Given the description of an element on the screen output the (x, y) to click on. 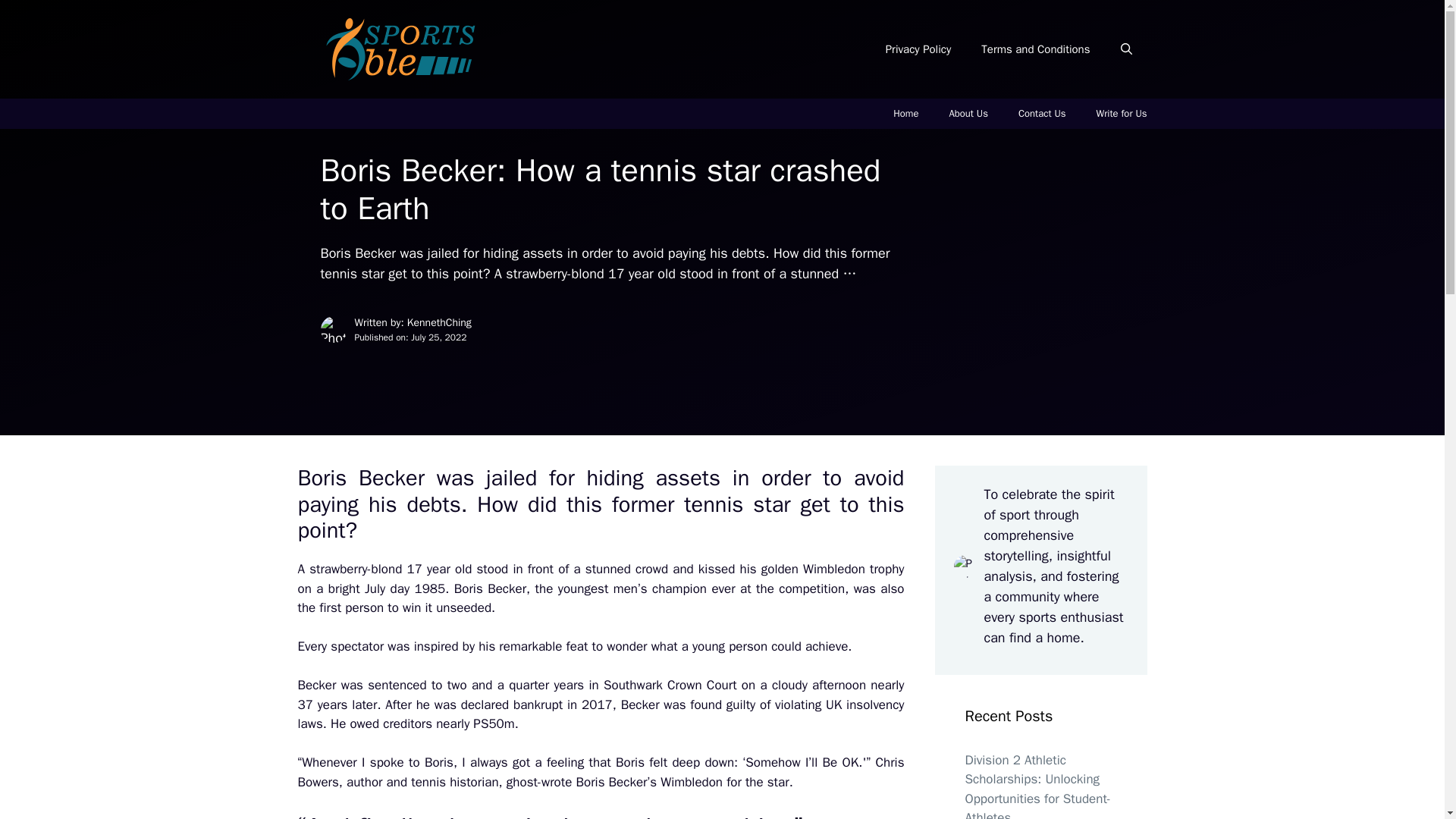
Privacy Policy (918, 49)
Home (905, 113)
Contact Us (1042, 113)
Write for Us (1121, 113)
About Us (968, 113)
Terms and Conditions (1035, 49)
